Given the description of an element on the screen output the (x, y) to click on. 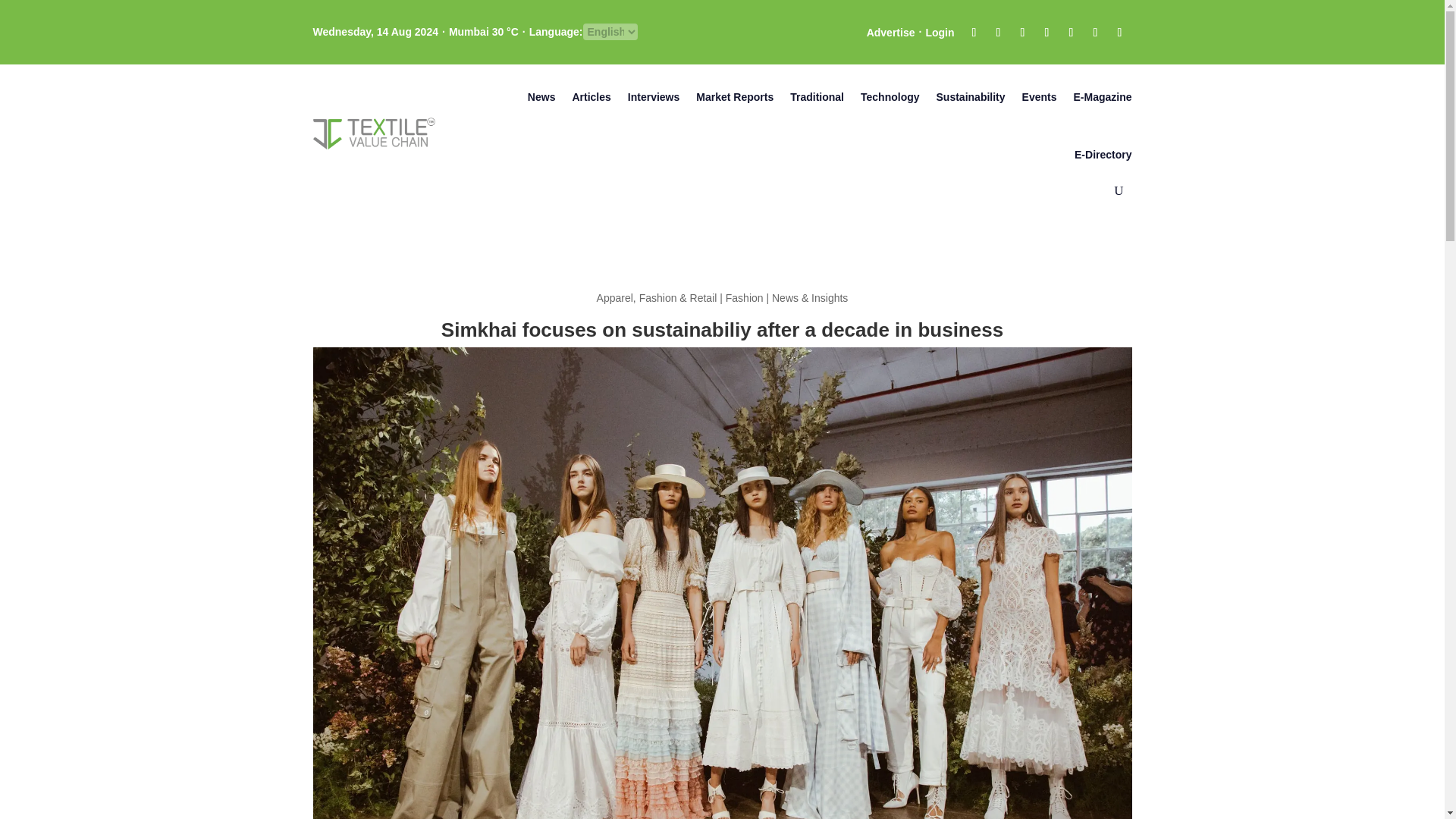
E-Directory (1102, 154)
Follow on Facebook (972, 32)
Follow on Instagram (1021, 32)
Follow on LinkedIn (1045, 32)
Follow on Telegram (1094, 32)
Advertise (890, 32)
Follow on WhatsApp (1118, 32)
E-Magazine (1102, 96)
Follow on X (997, 32)
